Given the description of an element on the screen output the (x, y) to click on. 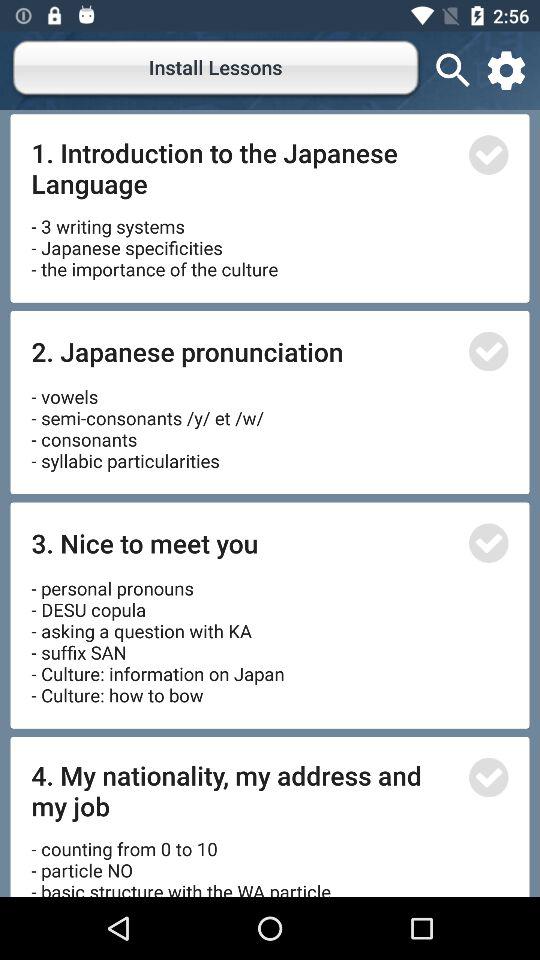
settings option (506, 70)
